Given the description of an element on the screen output the (x, y) to click on. 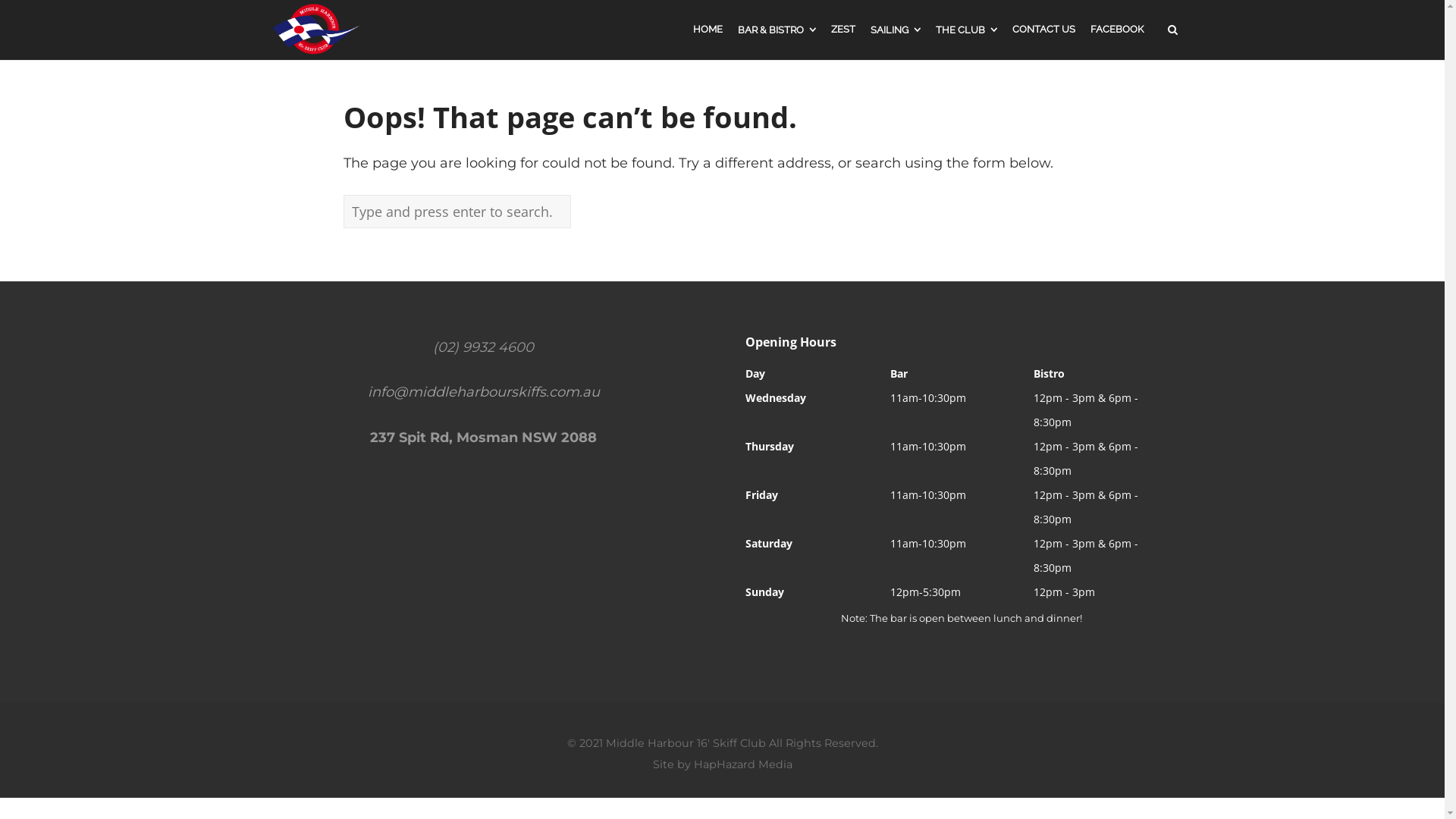
info@middleharbourskiffs.com.au Element type: text (483, 391)
